Given the description of an element on the screen output the (x, y) to click on. 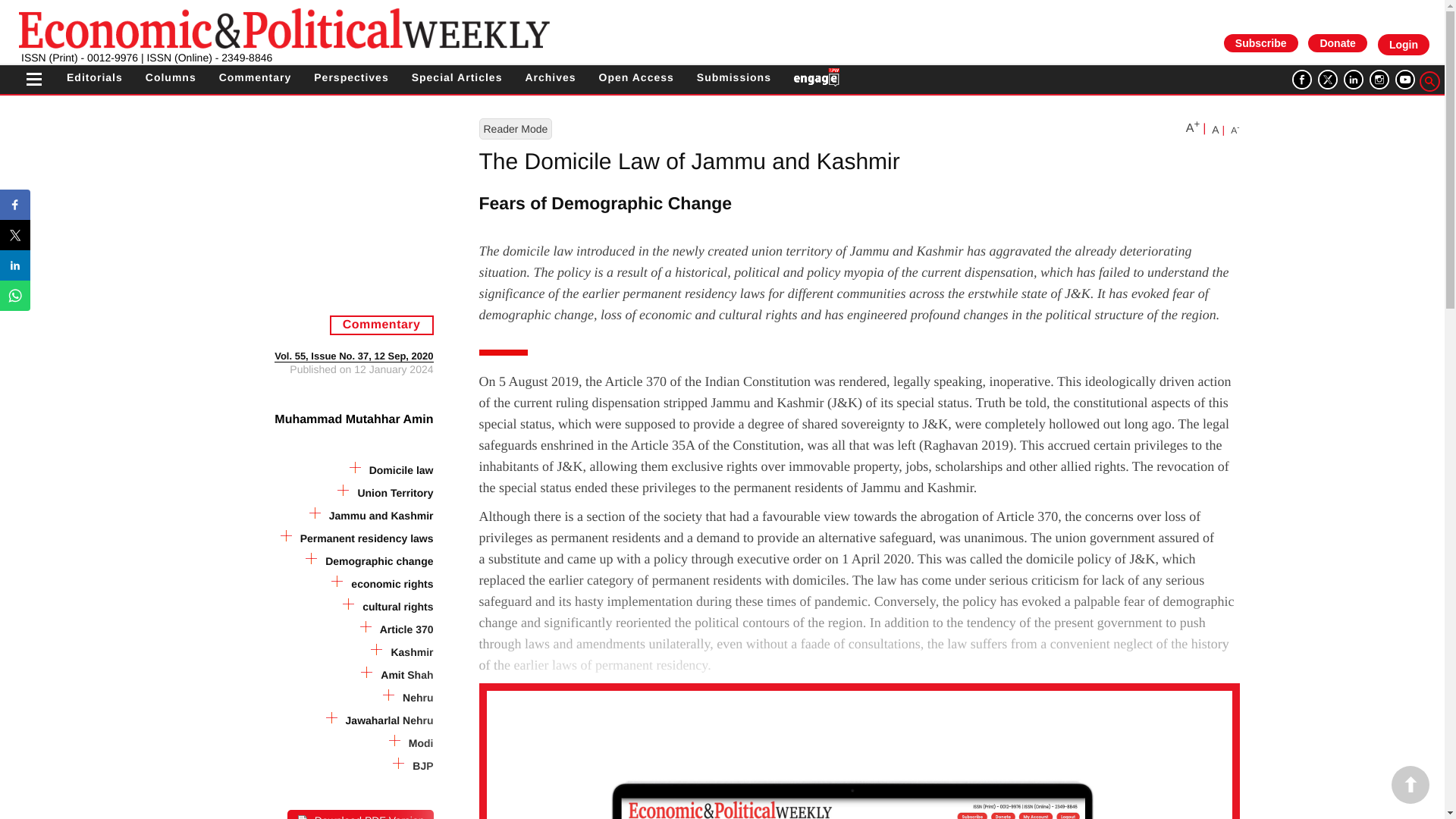
Archives (549, 77)
Archives (549, 77)
Submissions (734, 77)
Donate (1337, 43)
Special Articles (457, 77)
Donate (1337, 42)
Columns (170, 77)
Columns (170, 77)
Editorials (94, 77)
subscribe (1260, 42)
Perspectives (351, 77)
Login (1403, 44)
Commentary (255, 77)
Editorials (94, 77)
donate (1337, 42)
